Given the description of an element on the screen output the (x, y) to click on. 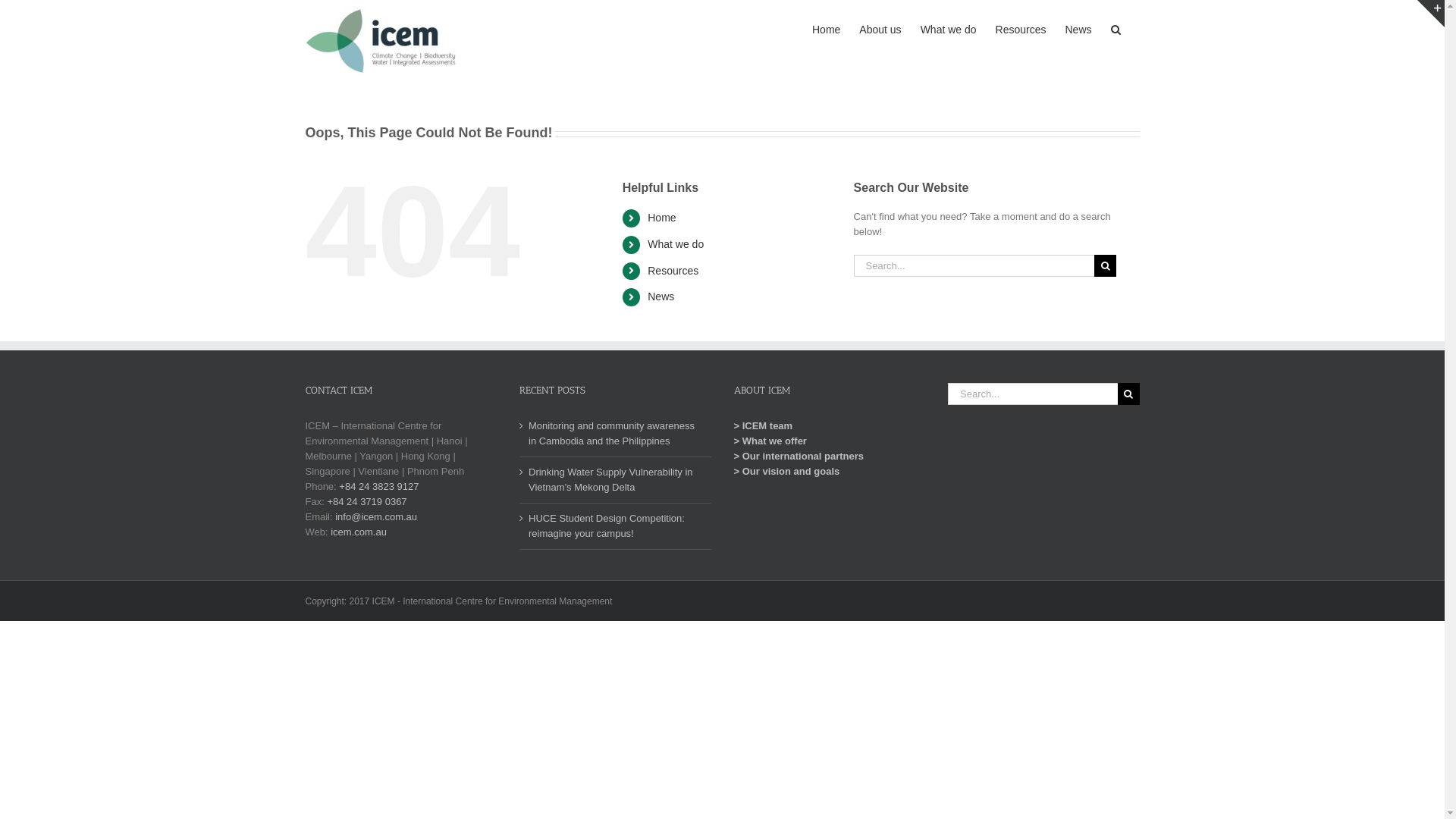
icem.com.au Element type: text (358, 531)
info@icem.com.au Element type: text (376, 516)
What we do Element type: text (675, 244)
Resources Element type: text (1020, 28)
HUCE Student Design Competition: reimagine your campus! Element type: text (615, 526)
News Element type: text (1077, 28)
Search Element type: hover (1115, 28)
What we do Element type: text (948, 28)
> Our vision and goals Element type: text (787, 470)
> ICEM team Element type: text (763, 425)
+84 24 3823 9127 Element type: text (378, 486)
> Our international partners Element type: text (799, 455)
News Element type: text (660, 296)
+84 24 3719 0367 Element type: text (366, 501)
Toggle Sliding Bar Area Element type: text (1430, 13)
About us Element type: text (879, 28)
Home Element type: text (826, 28)
> What we offer Element type: text (770, 440)
Resources Element type: text (672, 270)
Home Element type: text (661, 217)
